Given the description of an element on the screen output the (x, y) to click on. 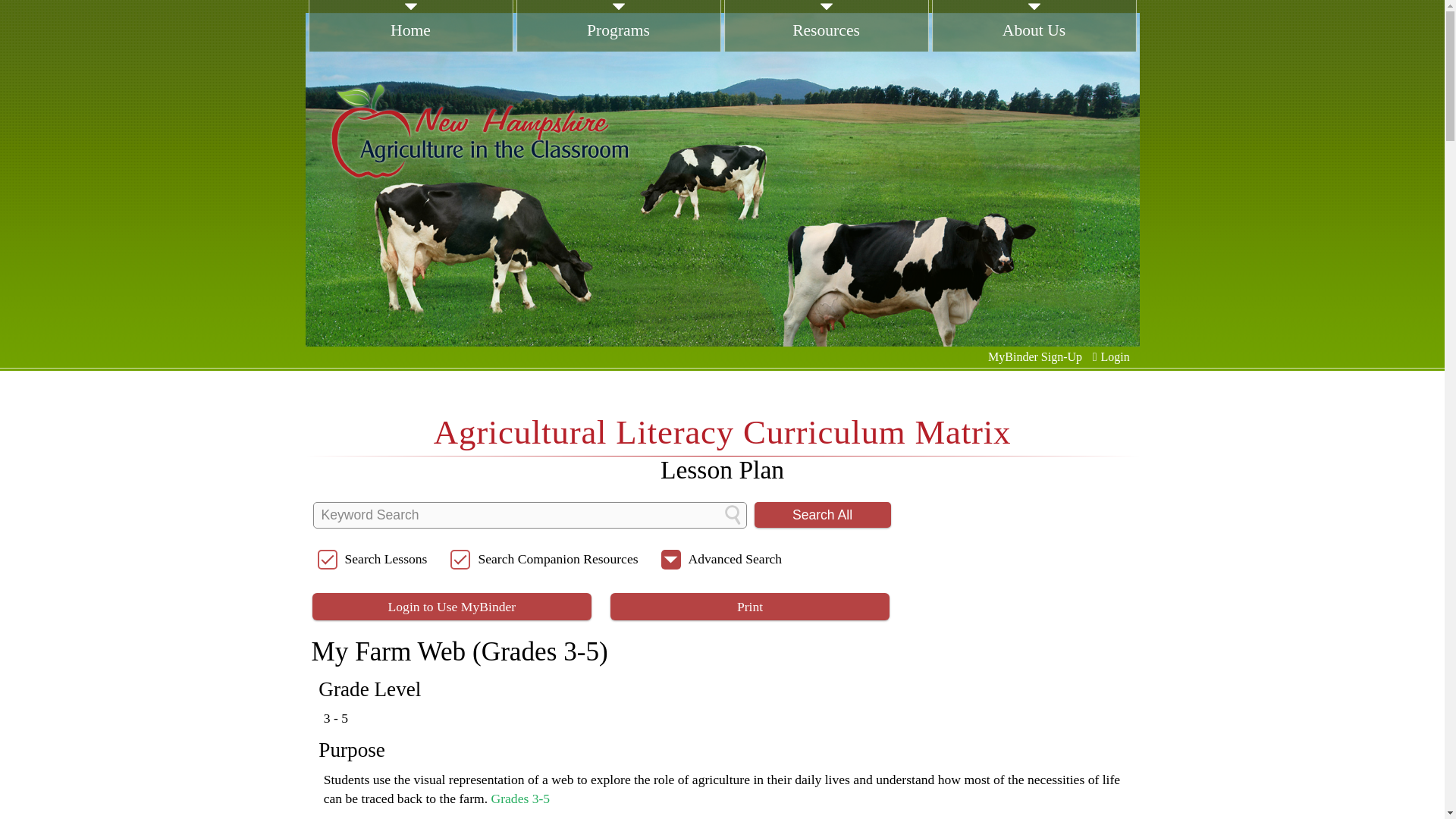
Programs (617, 42)
About Us (1033, 42)
New Hampshire Agriculture in the Classroom (478, 130)
Home (409, 42)
Resources (825, 42)
Search All (821, 514)
Search All (821, 514)
